Given the description of an element on the screen output the (x, y) to click on. 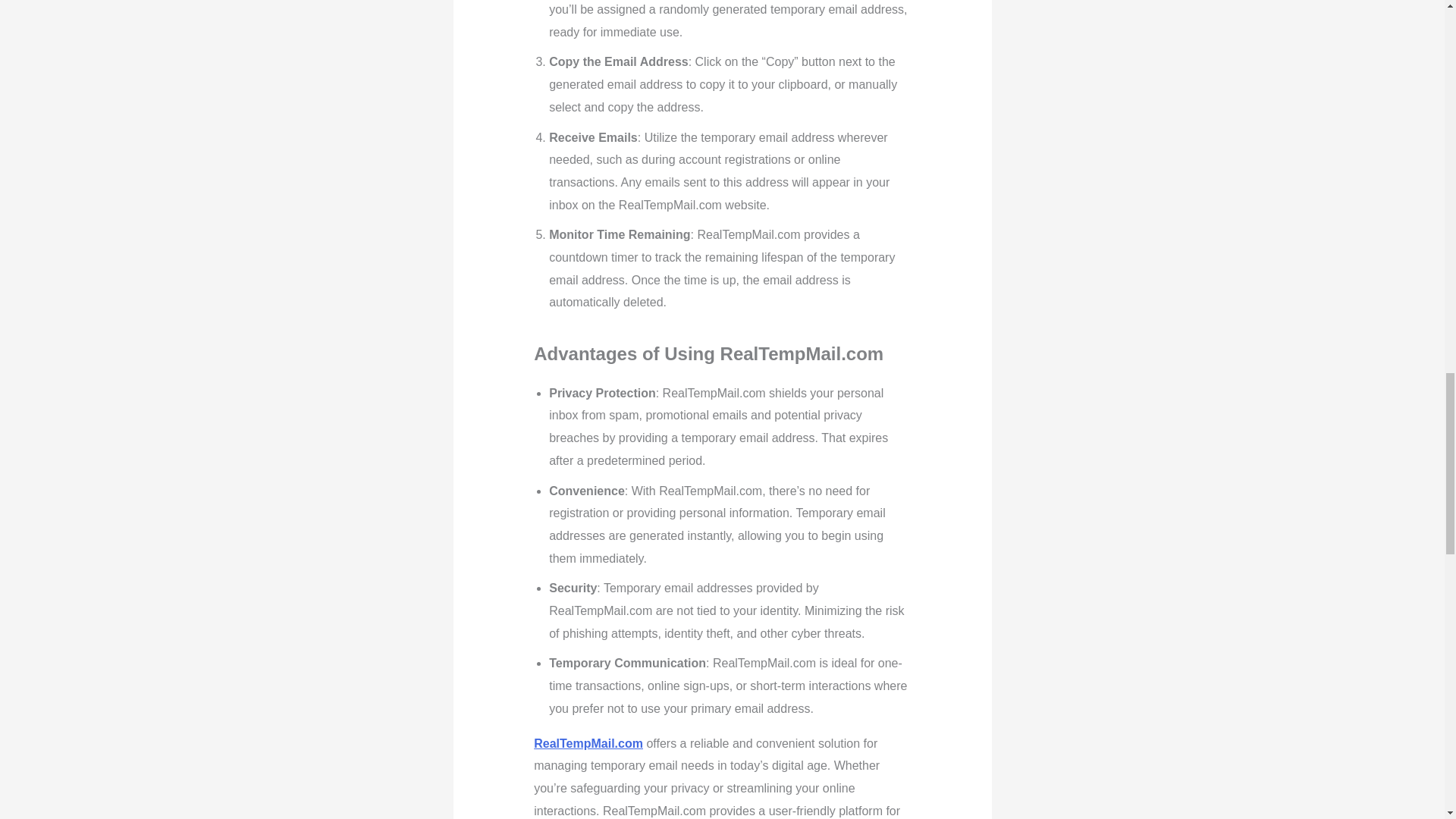
RealTempMail.com (588, 743)
